Given the description of an element on the screen output the (x, y) to click on. 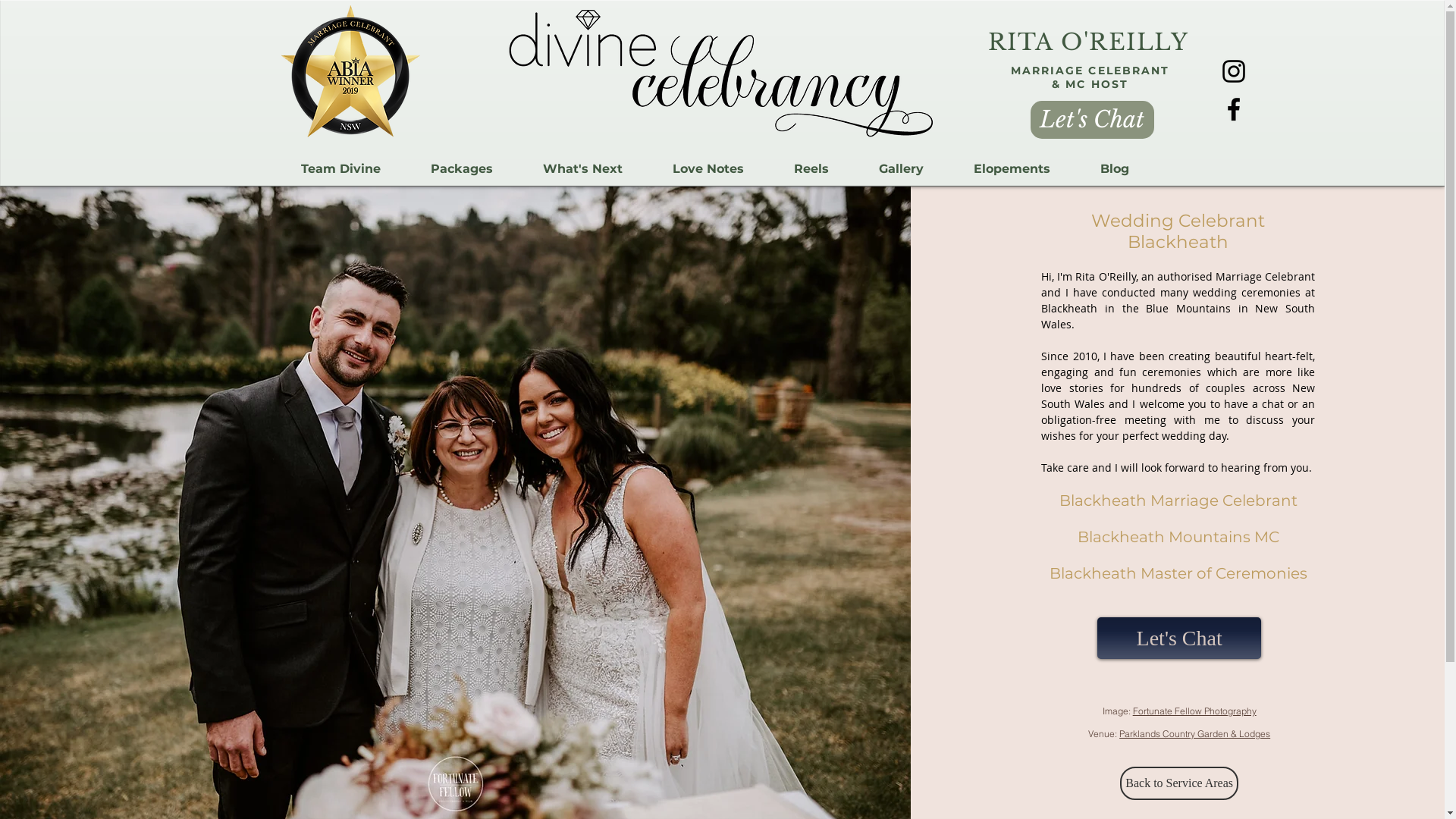
Let's Chat Element type: text (1179, 637)
Back to Service Areas Element type: text (1179, 783)
Reels Element type: text (810, 168)
MARRIAGE CELEBRANT
& MC HOST Element type: text (1090, 77)
Gallery Element type: text (900, 168)
What's Next Element type: text (581, 168)
Parklands Country Garden & Lodges Element type: text (1194, 733)
Love Notes Element type: text (707, 168)
Let's Chat Element type: text (1091, 119)
Elopements Element type: text (1010, 168)
RITA O'REILLY Element type: text (1087, 42)
Fortunate Fellow Photography Element type: text (1194, 710)
Packages Element type: text (460, 168)
Blog Element type: text (1114, 168)
Team Divine Element type: text (340, 168)
